Given the description of an element on the screen output the (x, y) to click on. 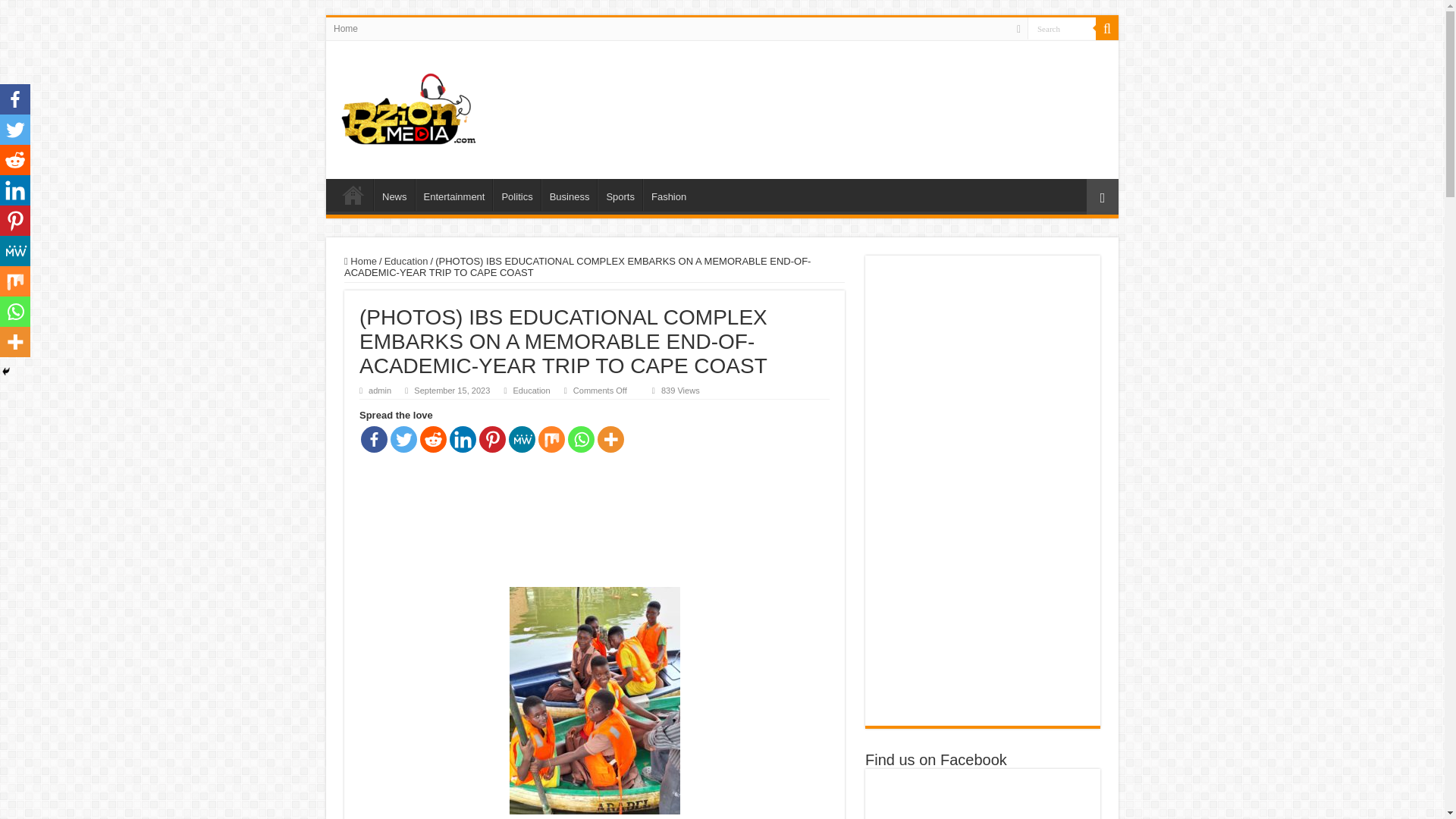
Reddit (433, 438)
Politics (516, 194)
News (394, 194)
Education (406, 260)
Sports (619, 194)
admin (379, 389)
Entertainment (453, 194)
Pinterest (492, 438)
Fashion (668, 194)
Home (360, 260)
Education (531, 389)
Facebook (374, 438)
Whatsapp (580, 438)
Twitter (403, 438)
Business (568, 194)
